Given the description of an element on the screen output the (x, y) to click on. 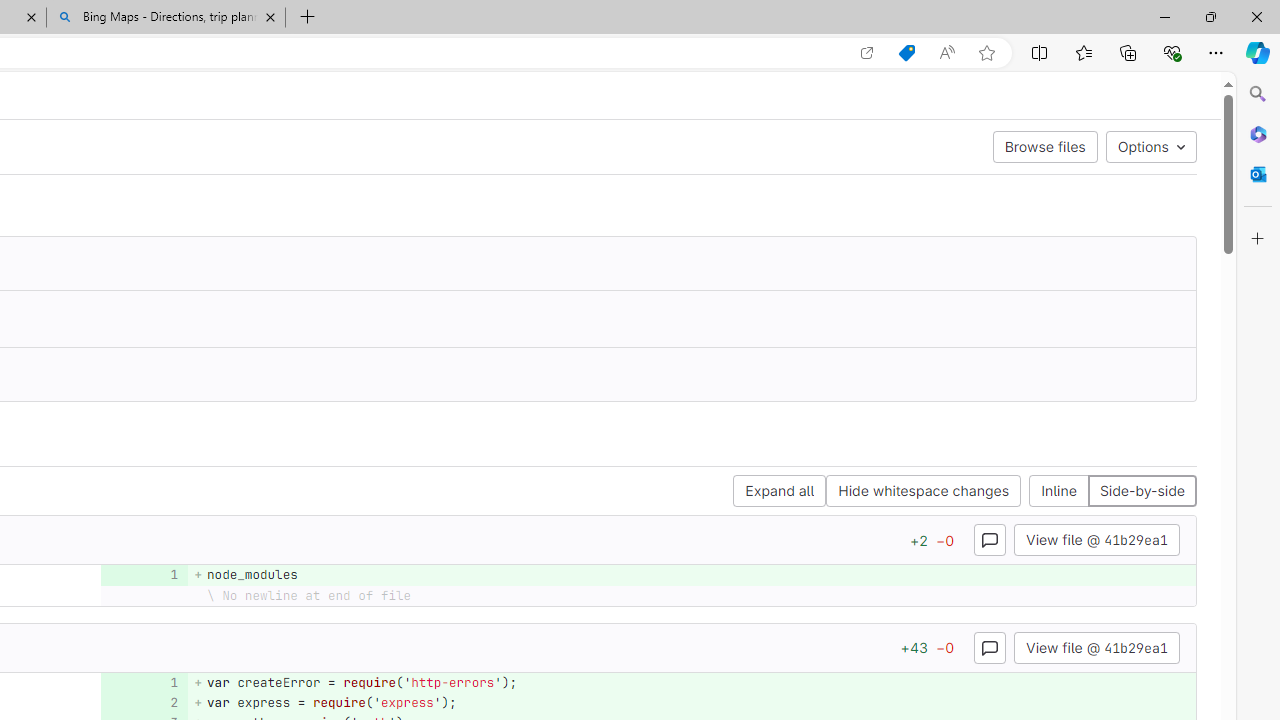
Options (1150, 146)
Browse files (1045, 146)
Add a comment to this line 1 (144, 681)
Class: s12 (137, 700)
+ var createError = require('http-errors');  (691, 681)
Inline (1059, 491)
Shopping in Microsoft Edge (906, 53)
